Given the description of an element on the screen output the (x, y) to click on. 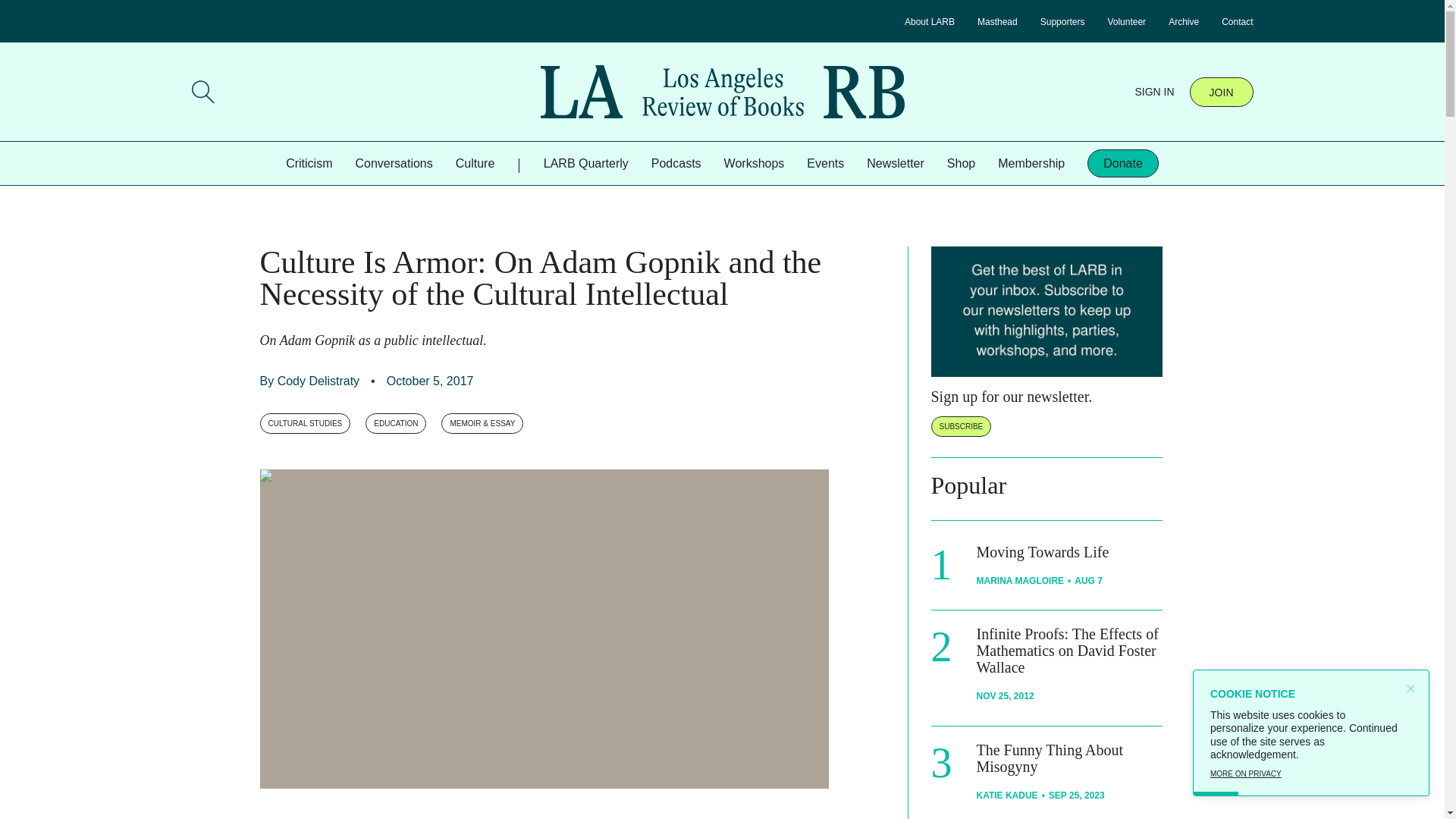
Events (825, 163)
Supporters (1062, 21)
Podcasts (675, 163)
Shop (961, 163)
LARB Quarterly (585, 163)
Cody Delistraty (318, 380)
Conversations (393, 163)
Volunteer (1125, 21)
Masthead (996, 21)
Contact (1236, 21)
